Given the description of an element on the screen output the (x, y) to click on. 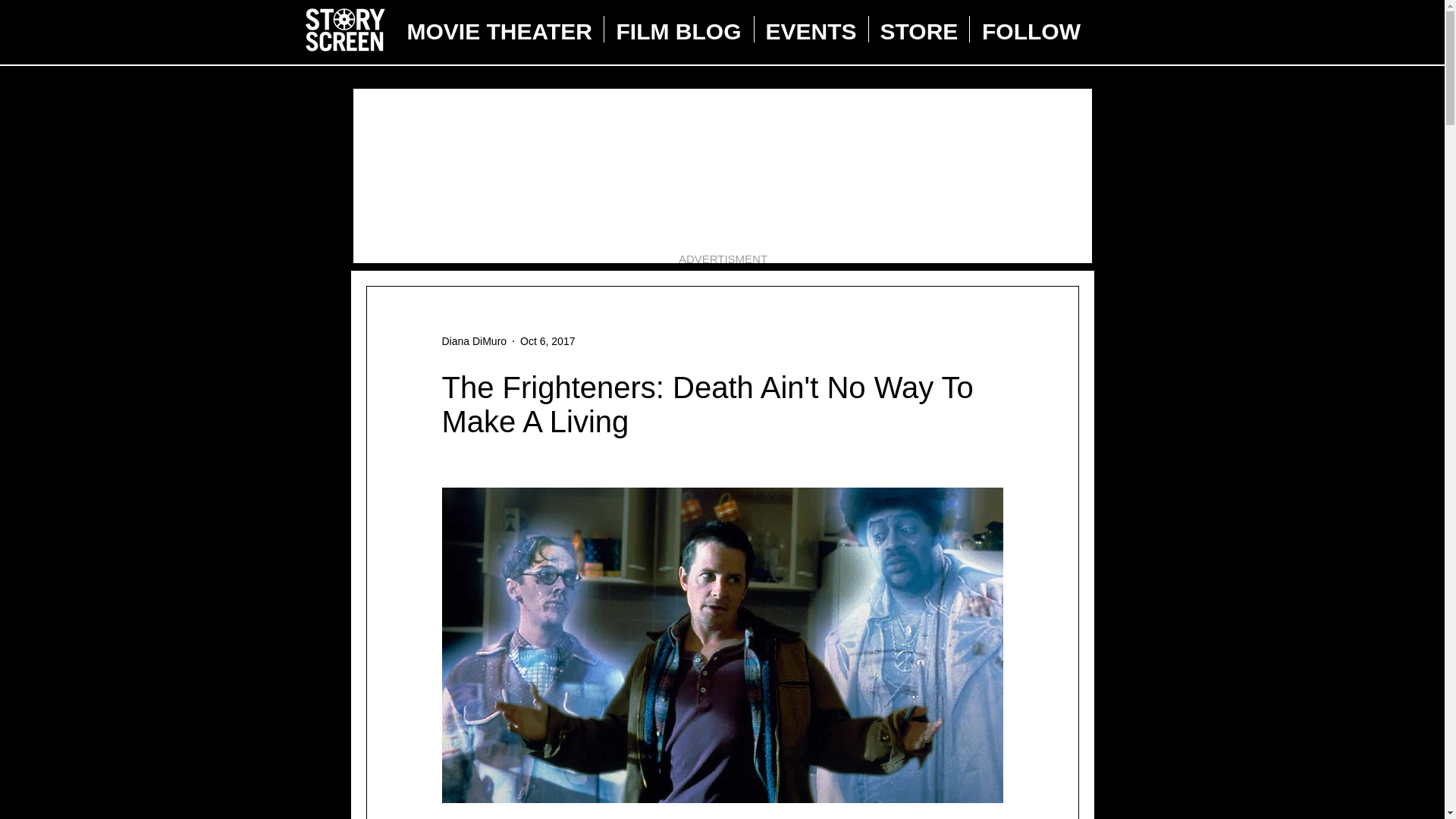
STORE (919, 28)
Oct 6, 2017 (547, 340)
MOVIE THEATER (500, 28)
EVENTS (810, 28)
Diana DiMuro (473, 341)
FILM BLOG (678, 28)
FOLLOW (1031, 28)
Diana DiMuro (473, 341)
